Given the description of an element on the screen output the (x, y) to click on. 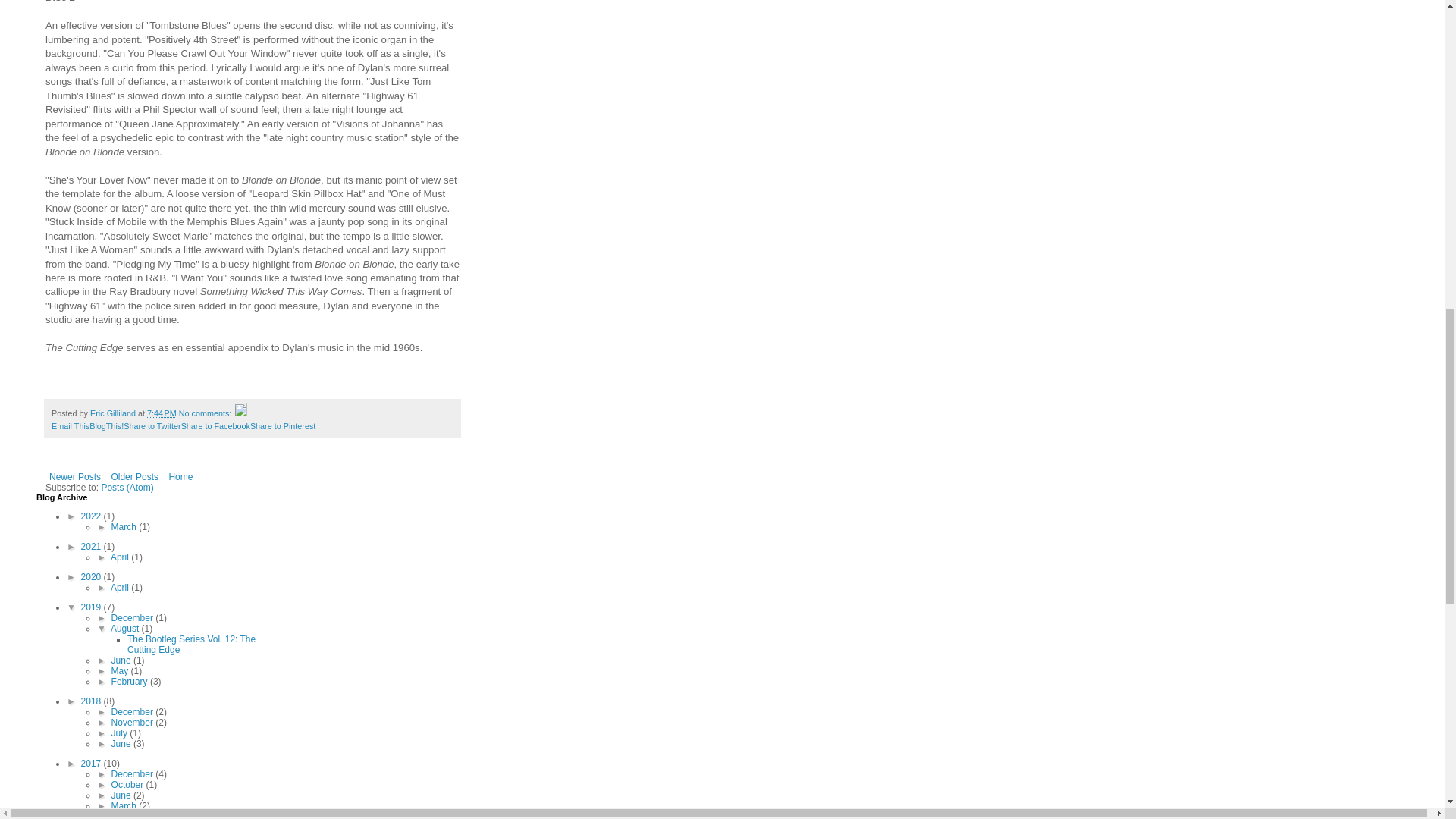
August (125, 628)
May (121, 670)
2020 (92, 576)
Share to Facebook (215, 425)
Eric Gilliland (114, 412)
Older Posts (133, 476)
BlogThis! (105, 425)
June (122, 660)
Edit Post (239, 412)
Share to Facebook (215, 425)
March (125, 526)
permanent link (161, 412)
Home (180, 476)
April (120, 557)
2019 (92, 606)
